Given the description of an element on the screen output the (x, y) to click on. 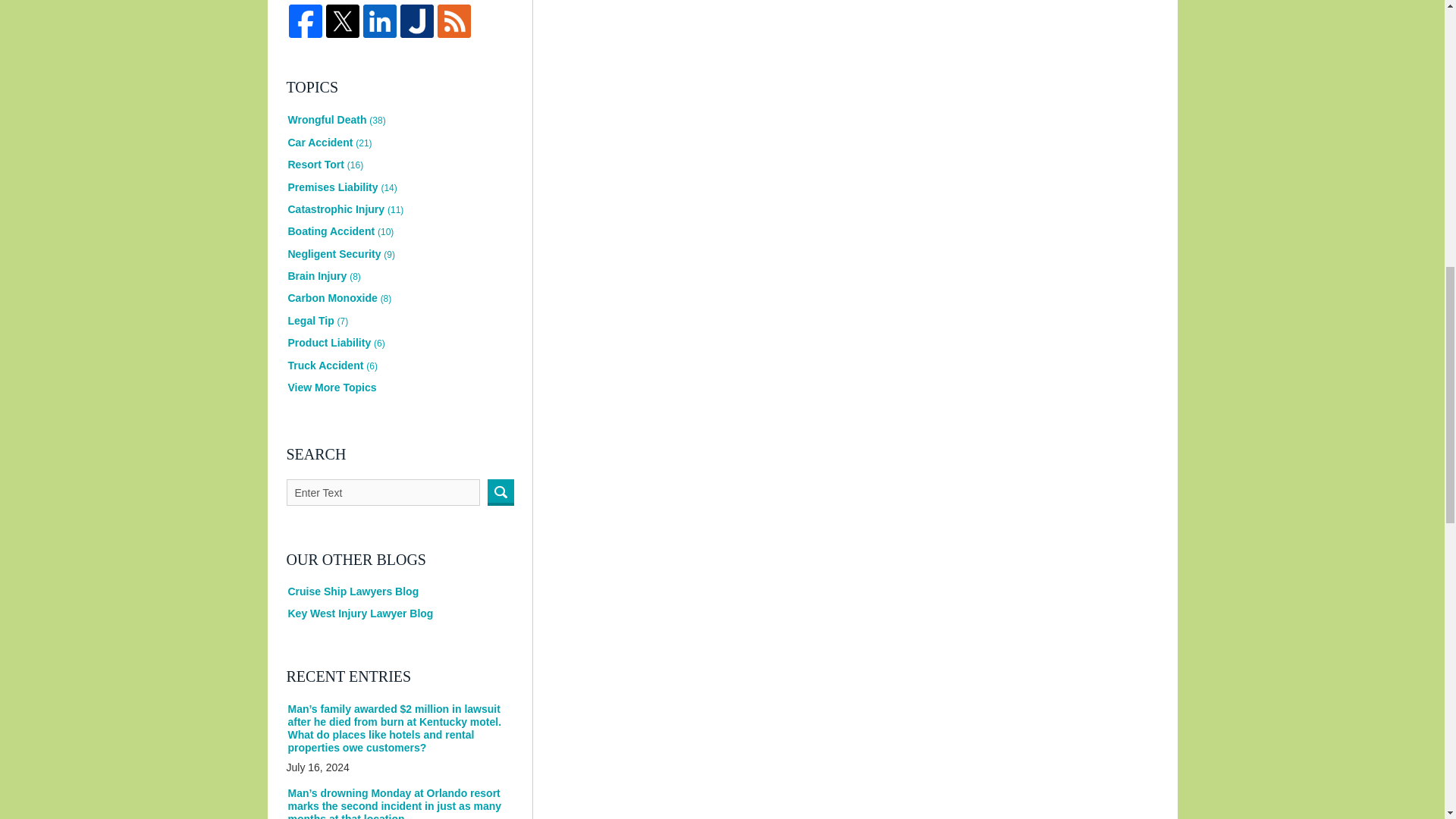
Facebook (305, 20)
Twitter (342, 20)
LinkedIn (379, 20)
